Given the description of an element on the screen output the (x, y) to click on. 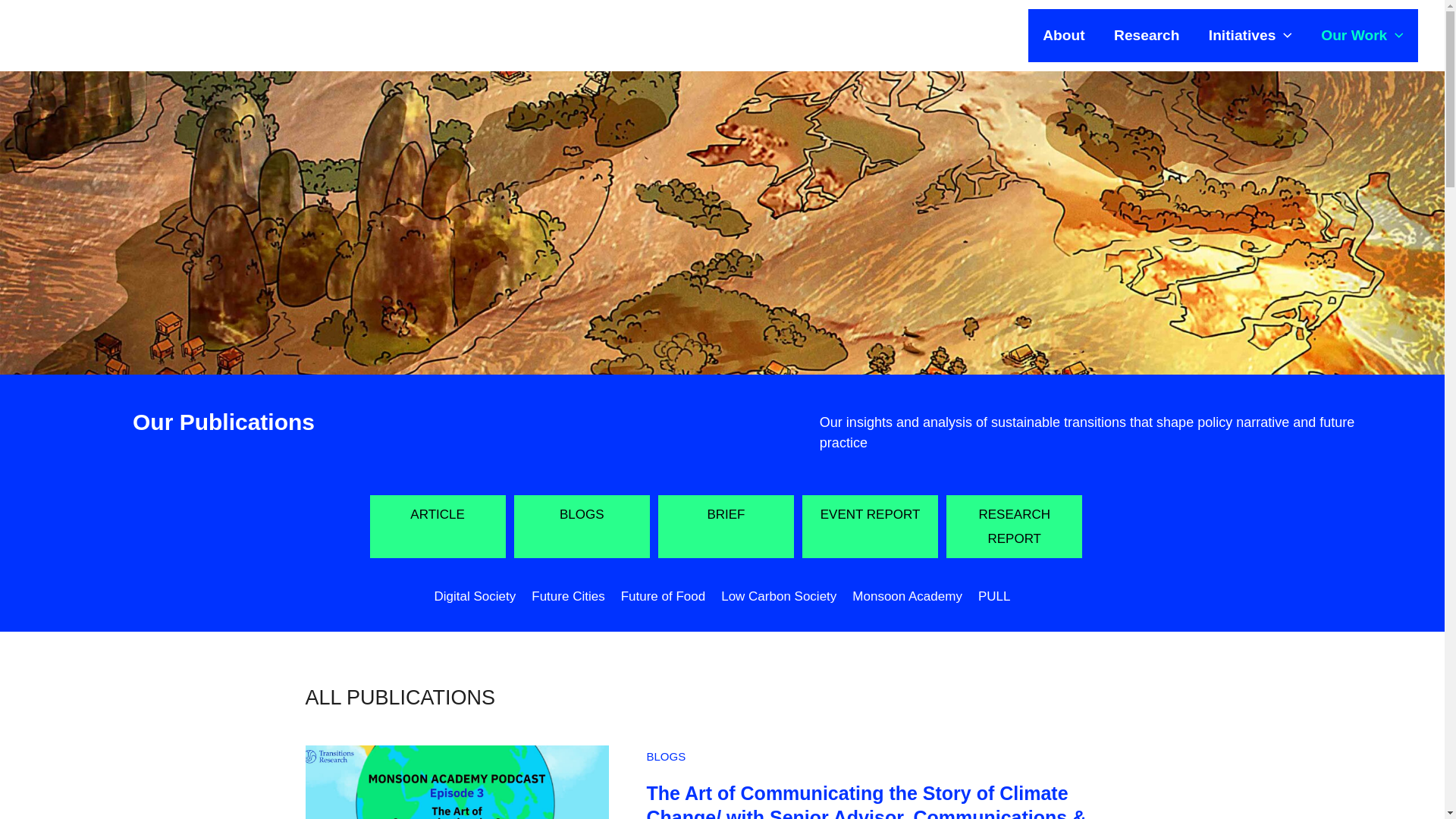
Our Work (1362, 35)
Research (1146, 35)
Initiatives (1249, 35)
About (1063, 35)
